Given the description of an element on the screen output the (x, y) to click on. 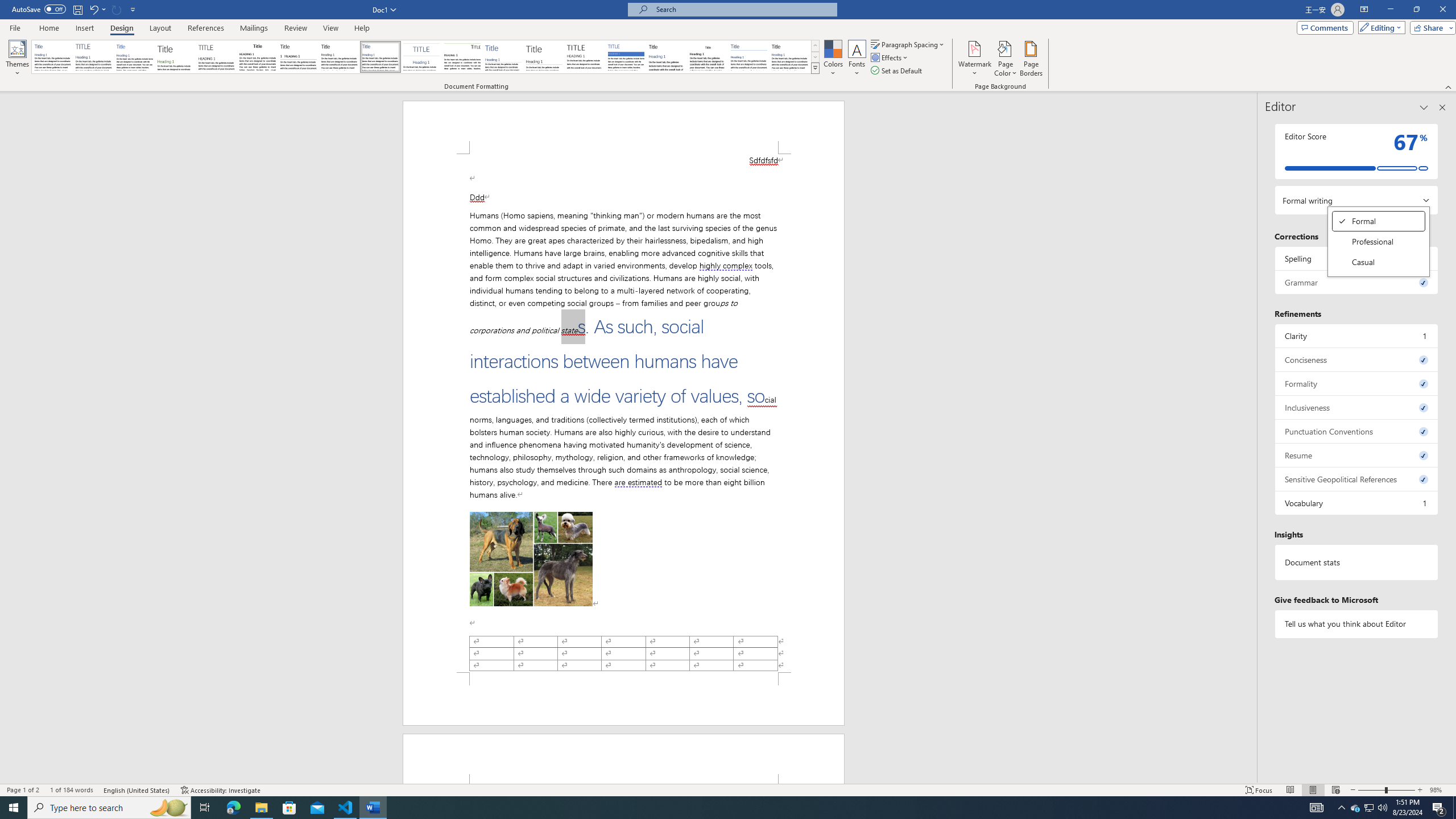
Microsoft Edge (233, 807)
Document (52, 56)
Page Color (1378, 241)
Fonts (1005, 58)
Vocabulary, 1 issue. Press space or enter to review items. (856, 58)
